Given the description of an element on the screen output the (x, y) to click on. 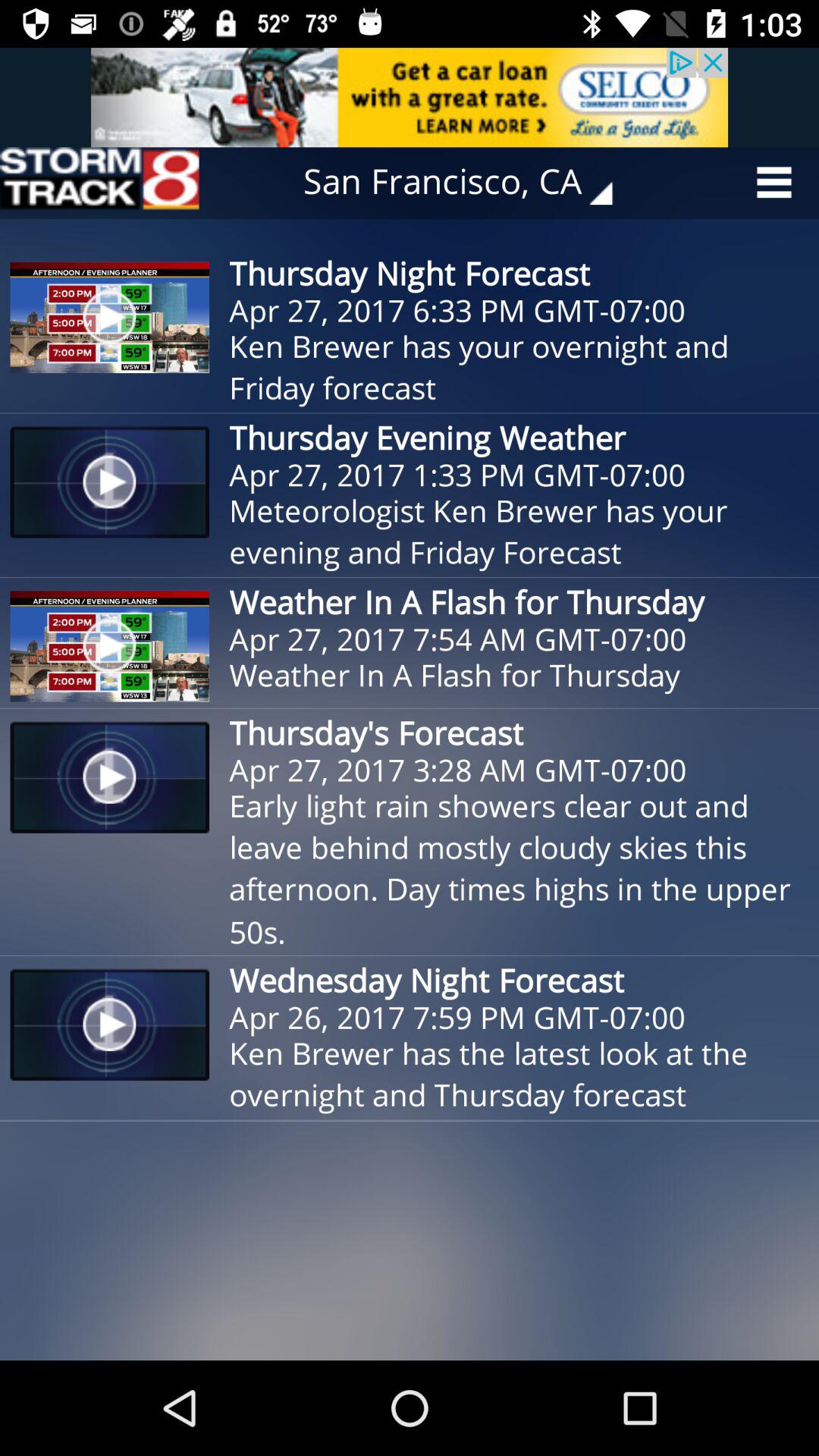
open webpage of displayed advertisement (409, 97)
